Given the description of an element on the screen output the (x, y) to click on. 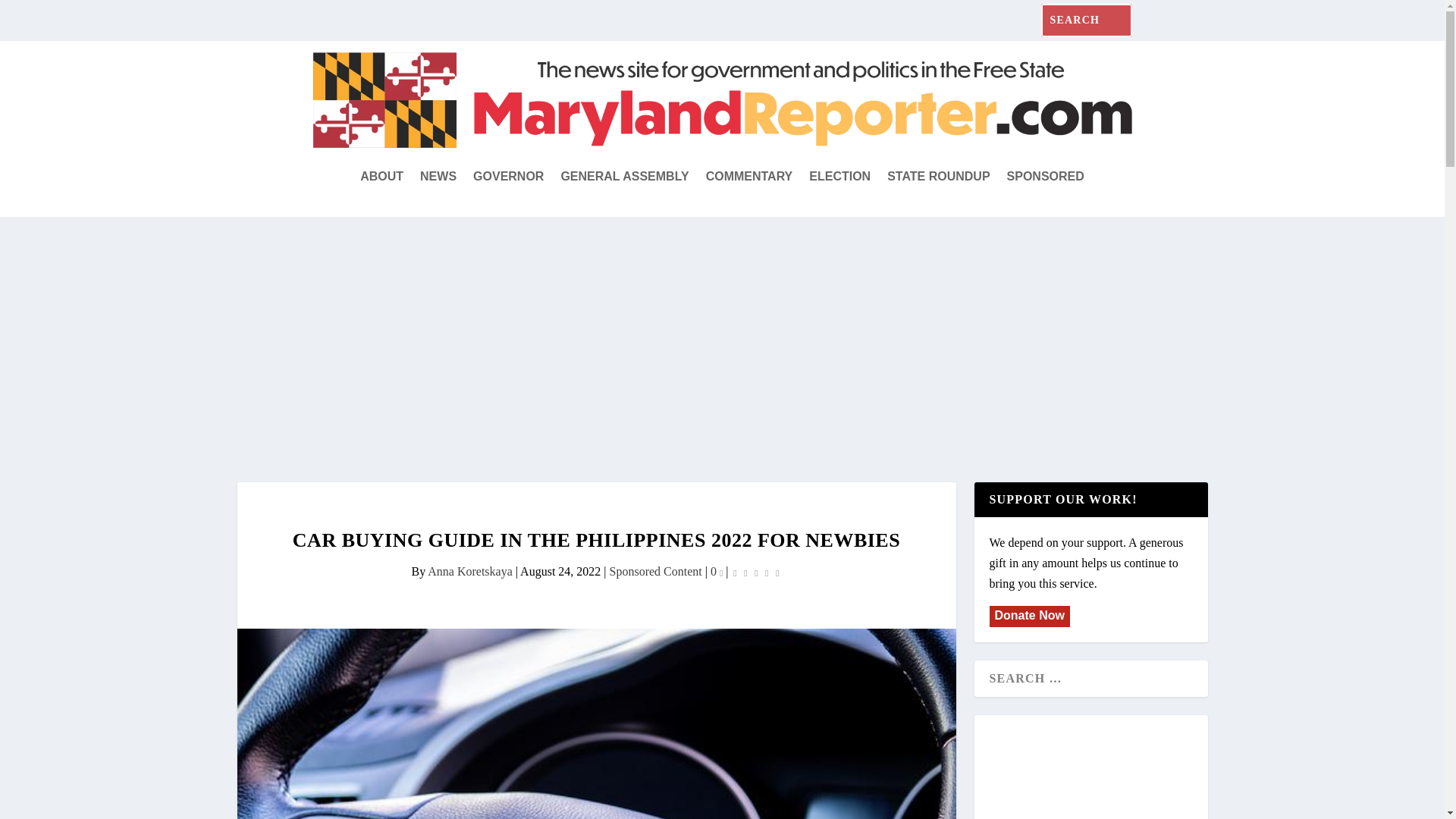
0 (716, 571)
GOVERNOR (508, 176)
Search (29, 16)
Rating: 0.00 (756, 572)
SPONSORED (1045, 176)
Posts by Anna Koretskaya (470, 571)
STATE ROUNDUP (938, 176)
GENERAL ASSEMBLY (624, 176)
ELECTION (839, 176)
COMMENTARY (749, 176)
Sponsored Content (655, 571)
Anna Koretskaya (470, 571)
